Given the description of an element on the screen output the (x, y) to click on. 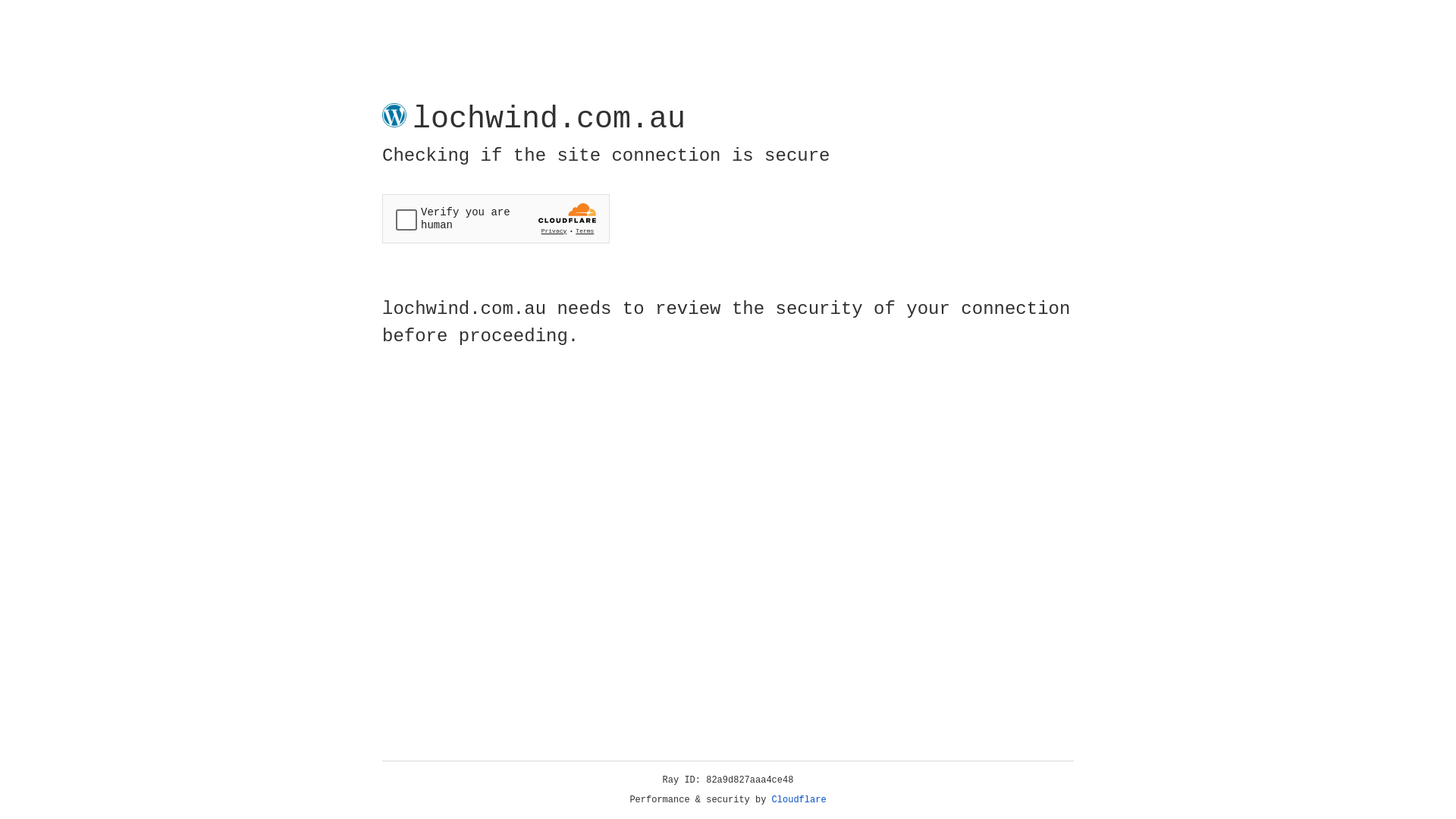
Cloudflare Element type: text (798, 799)
Widget containing a Cloudflare security challenge Element type: hover (495, 218)
